Given the description of an element on the screen output the (x, y) to click on. 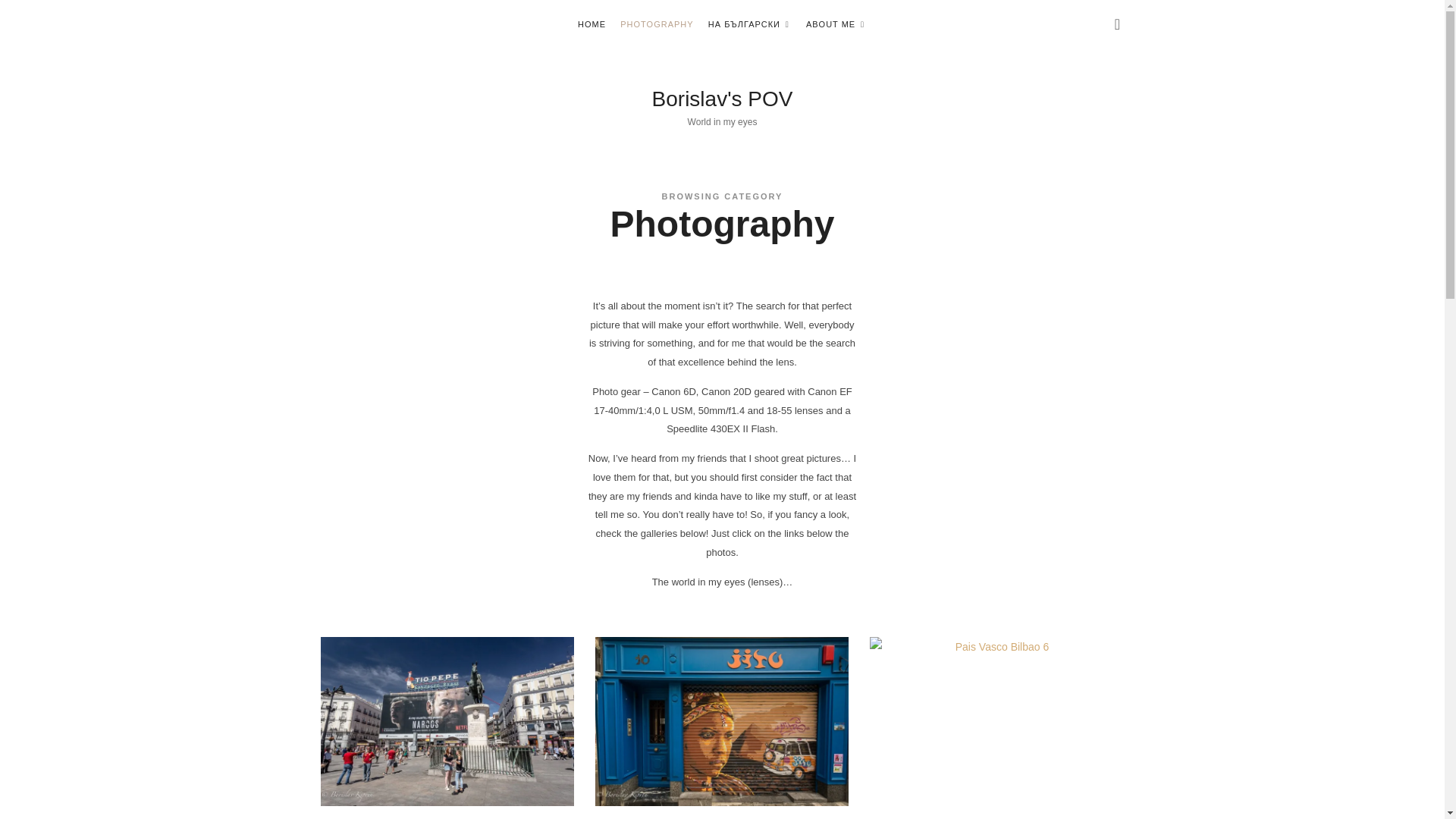
About Me (836, 24)
PHOTOGRAPHY (722, 97)
ABOUT ME (656, 24)
